Given the description of an element on the screen output the (x, y) to click on. 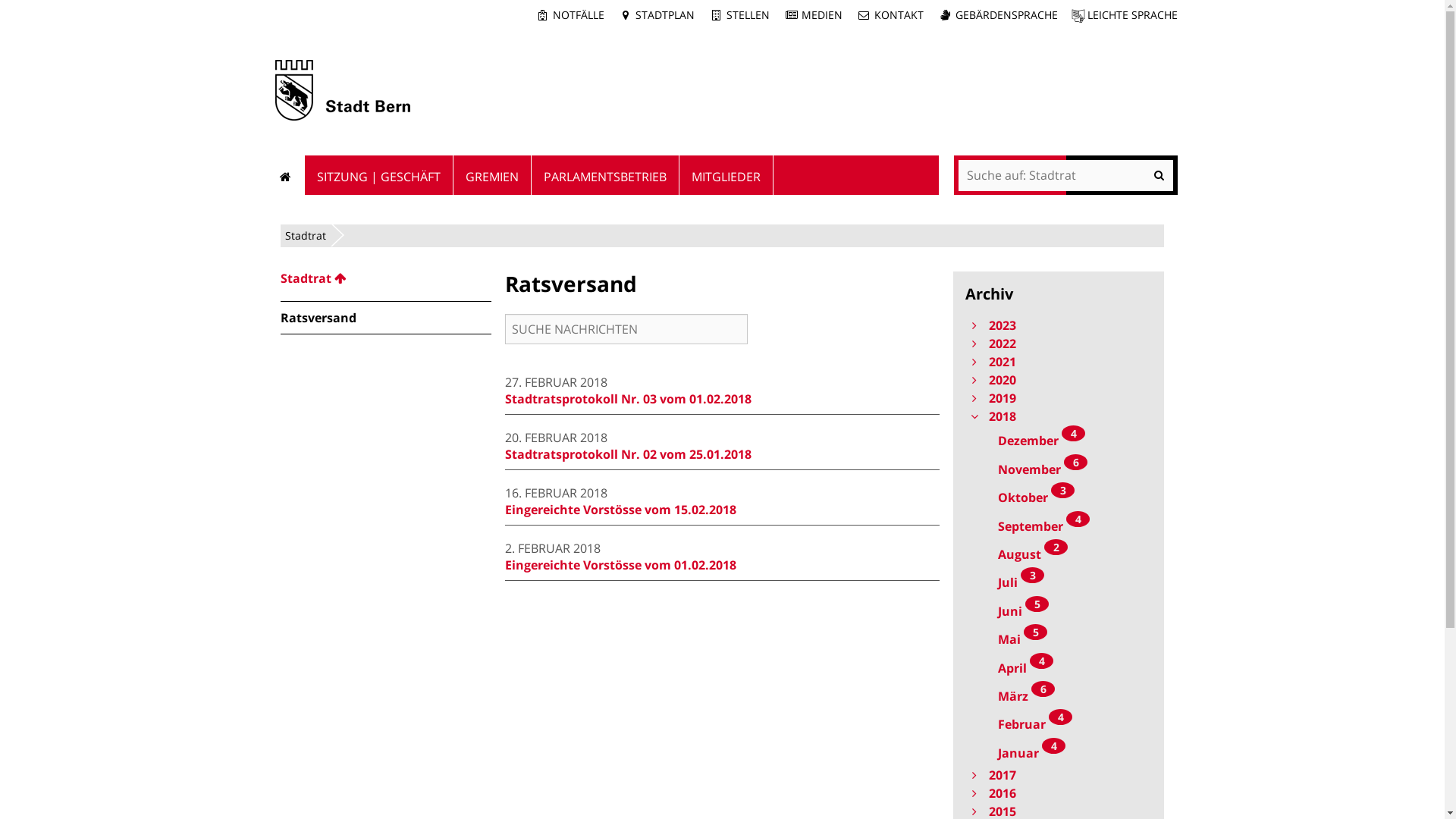
April 4 Element type: text (1058, 666)
2016 Element type: text (1058, 793)
2017 Element type: text (1058, 774)
KONTAKT Element type: text (889, 14)
MITGLIEDER Element type: text (726, 174)
September 4 Element type: text (1058, 525)
Suchen Element type: hover (1065, 175)
Oktober 3 Element type: text (1058, 496)
STADTPLAN Element type: text (656, 14)
GREMIEN Element type: text (492, 174)
Stadt Bern Element type: hover (341, 90)
Stadtratsprotokoll Nr. 03 vom 01.02.2018 Element type: text (628, 398)
November 6 Element type: text (1058, 468)
Stadtrat Element type: text (385, 278)
MEDIEN Element type: text (812, 14)
Mai 5 Element type: text (1058, 638)
Februar 4 Element type: text (1058, 723)
STARTSEITE Element type: text (285, 174)
Juni 5 Element type: text (1058, 610)
Dezember 4 Element type: text (1058, 439)
STELLEN Element type: text (738, 14)
2018 Element type: text (1058, 416)
LEICHTE SPRACHE Element type: text (1123, 14)
PARLAMENTSBETRIEB Element type: text (604, 174)
2023 Element type: text (1058, 325)
Stadtrat Element type: text (305, 235)
2020 Element type: text (1058, 379)
2021 Element type: text (1058, 361)
2022 Element type: text (1058, 343)
Januar 4 Element type: text (1058, 751)
August 2 Element type: text (1058, 553)
2019 Element type: text (1058, 398)
Juli 3 Element type: text (1058, 581)
Stadtratsprotokoll Nr. 02 vom 25.01.2018 Element type: text (628, 453)
